Given the description of an element on the screen output the (x, y) to click on. 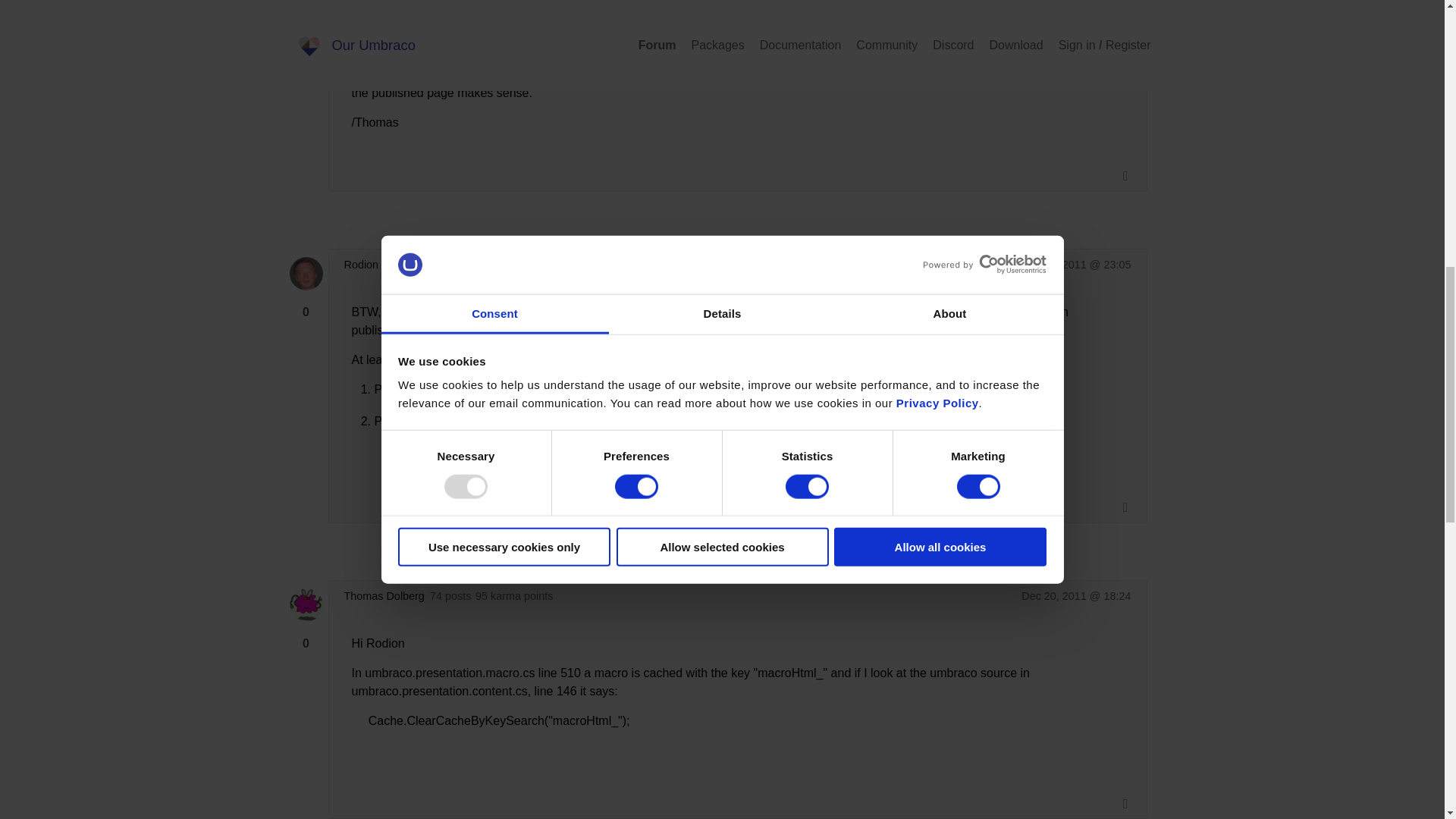
Post my reply (335, 787)
